Given the description of an element on the screen output the (x, y) to click on. 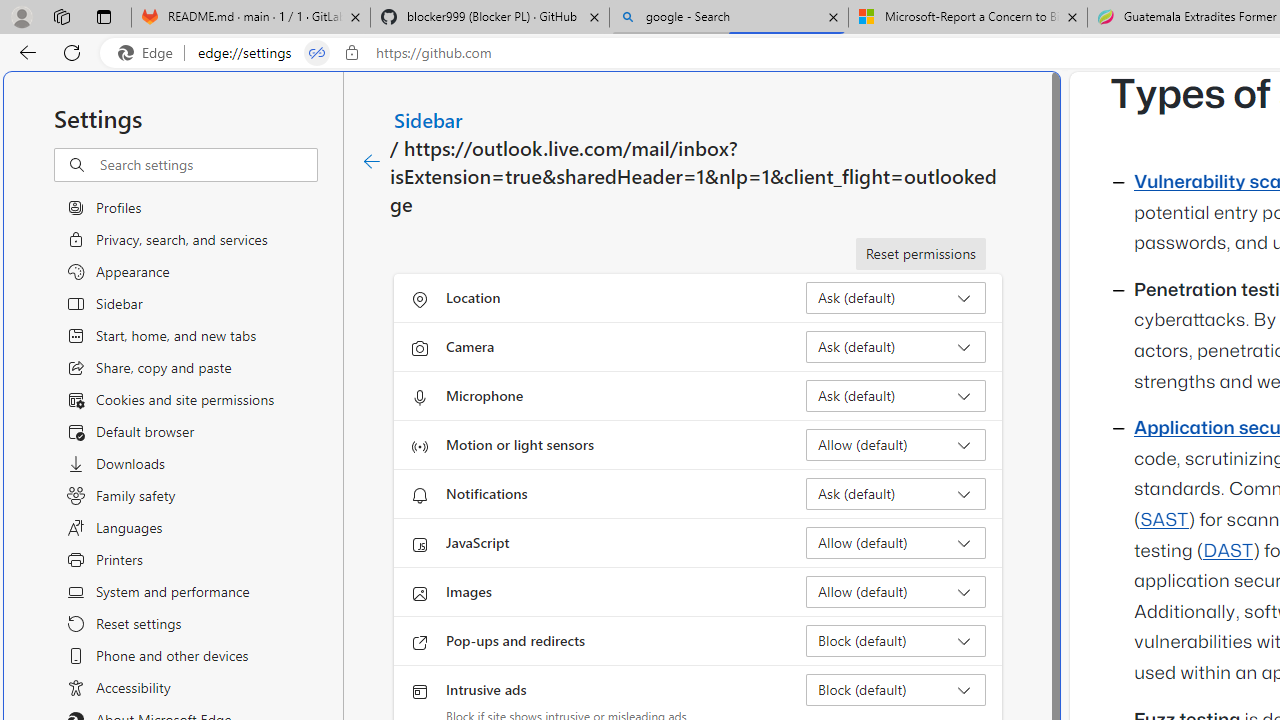
DAST (1228, 551)
Reset permissions (920, 254)
Tabs in split screen (317, 53)
Intrusive ads Block (default) (895, 689)
Location Ask (default) (895, 297)
Motion or light sensors Allow (default) (895, 444)
Class: c01182 (371, 161)
Edge (150, 53)
